Given the description of an element on the screen output the (x, y) to click on. 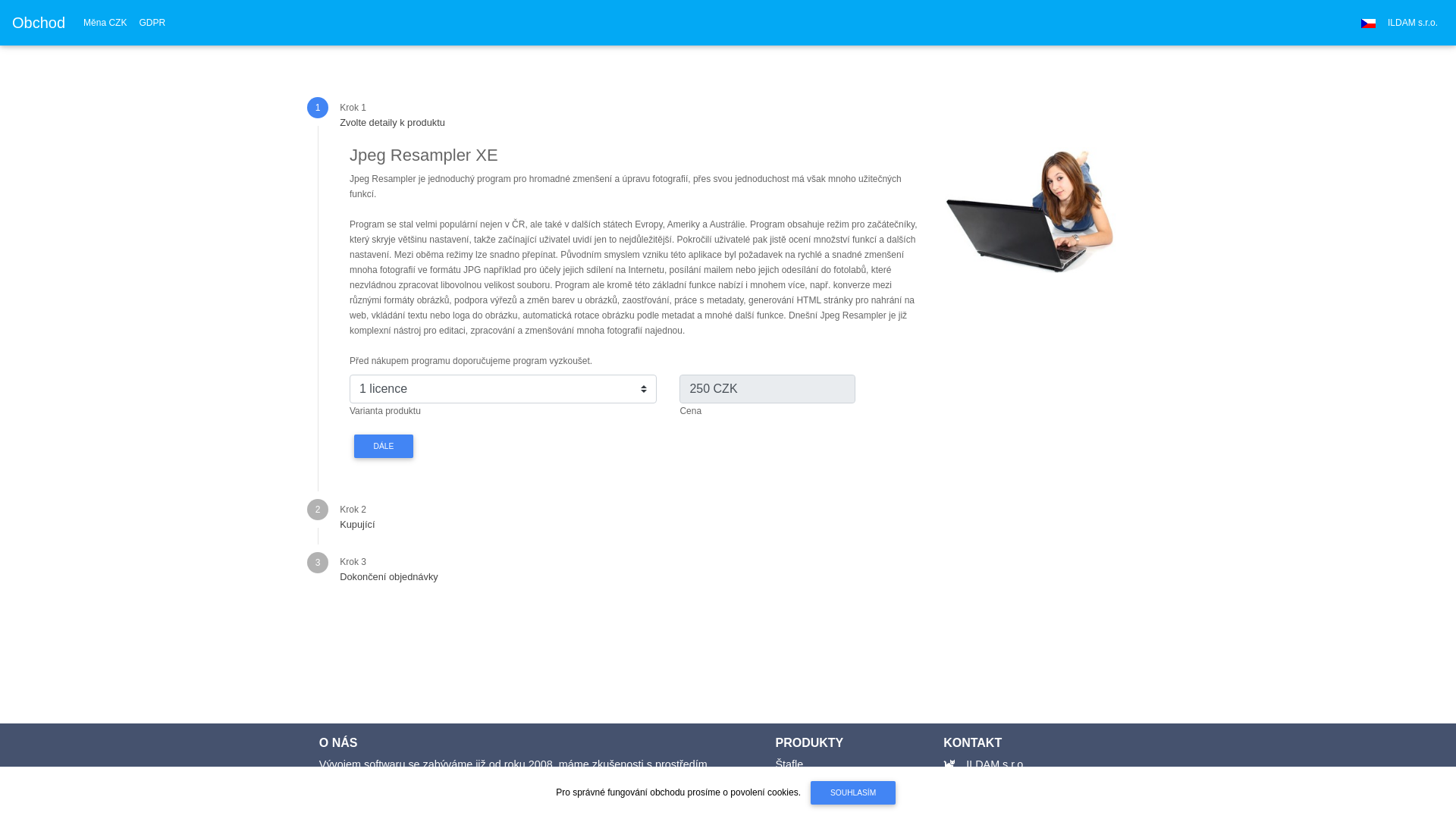
Obchod Element type: text (38, 22)
Switch to English Element type: hover (1368, 22)
Jpeg Resampler XE Element type: hover (1031, 210)
Sport Club Management Element type: text (834, 782)
GDPR Element type: text (151, 22)
ILDAM s.r.o. Element type: text (1412, 22)
